Given the description of an element on the screen output the (x, y) to click on. 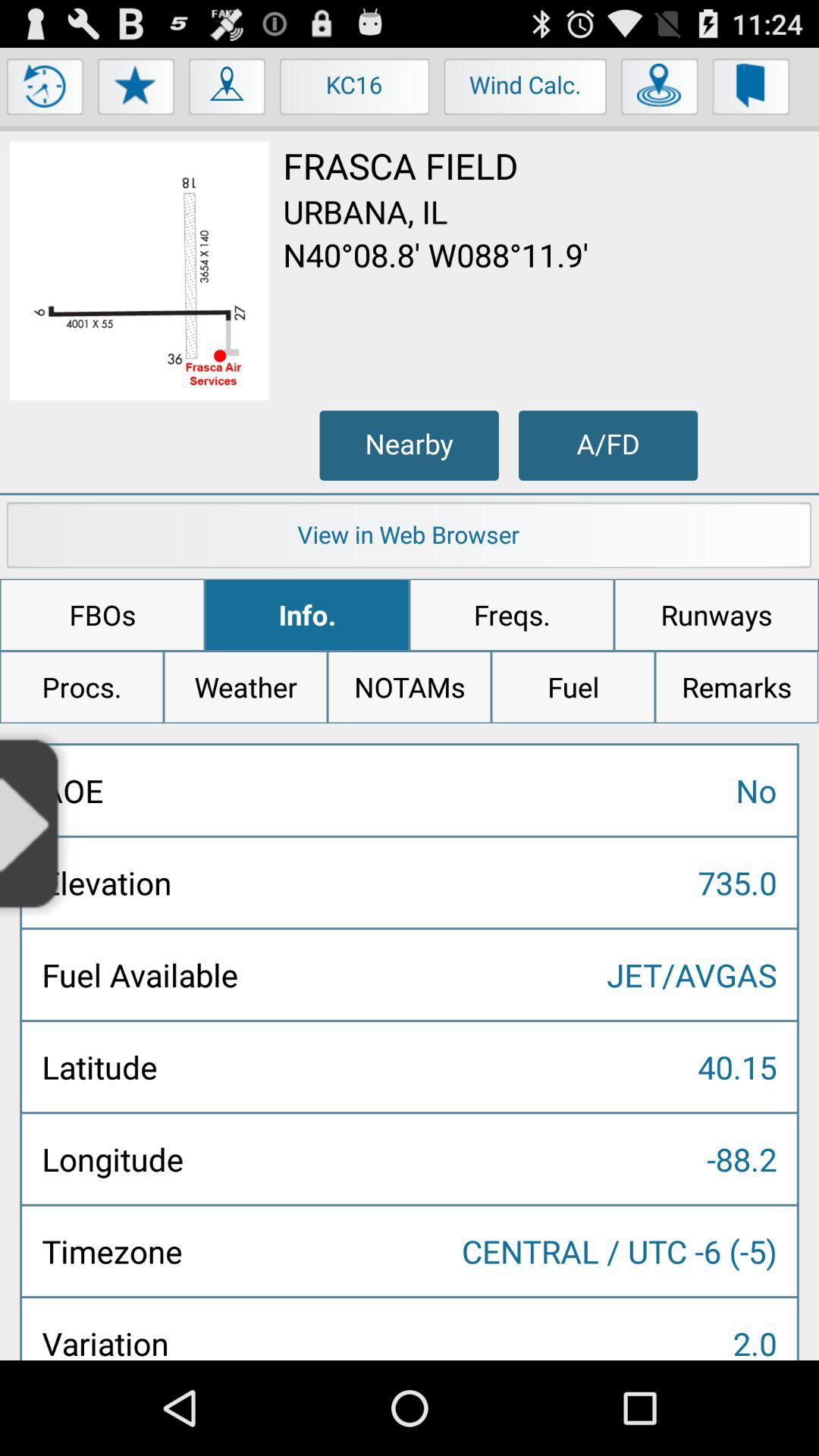
view map (227, 90)
